Given the description of an element on the screen output the (x, y) to click on. 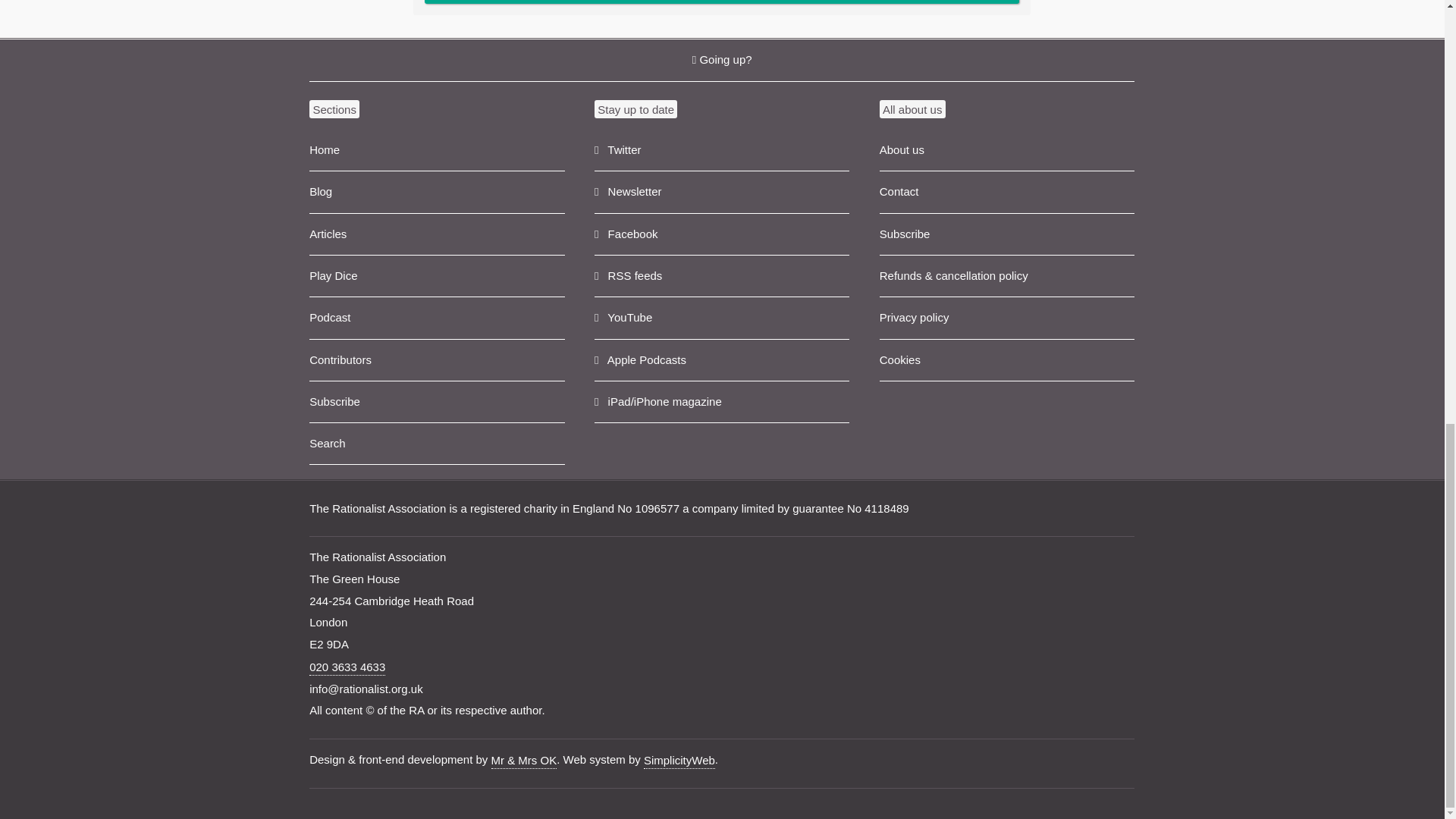
Articles (436, 234)
SimplicityWeb (678, 761)
Blog (436, 191)
Newsletter (721, 191)
Search (436, 444)
Cookies (1006, 360)
Facebook (721, 234)
Podcast (436, 318)
Twitter (721, 150)
Contact (1006, 191)
Play Dice (436, 276)
RSS feeds (721, 276)
Privacy policy (1006, 318)
020 3633 4633 (346, 667)
